Given the description of an element on the screen output the (x, y) to click on. 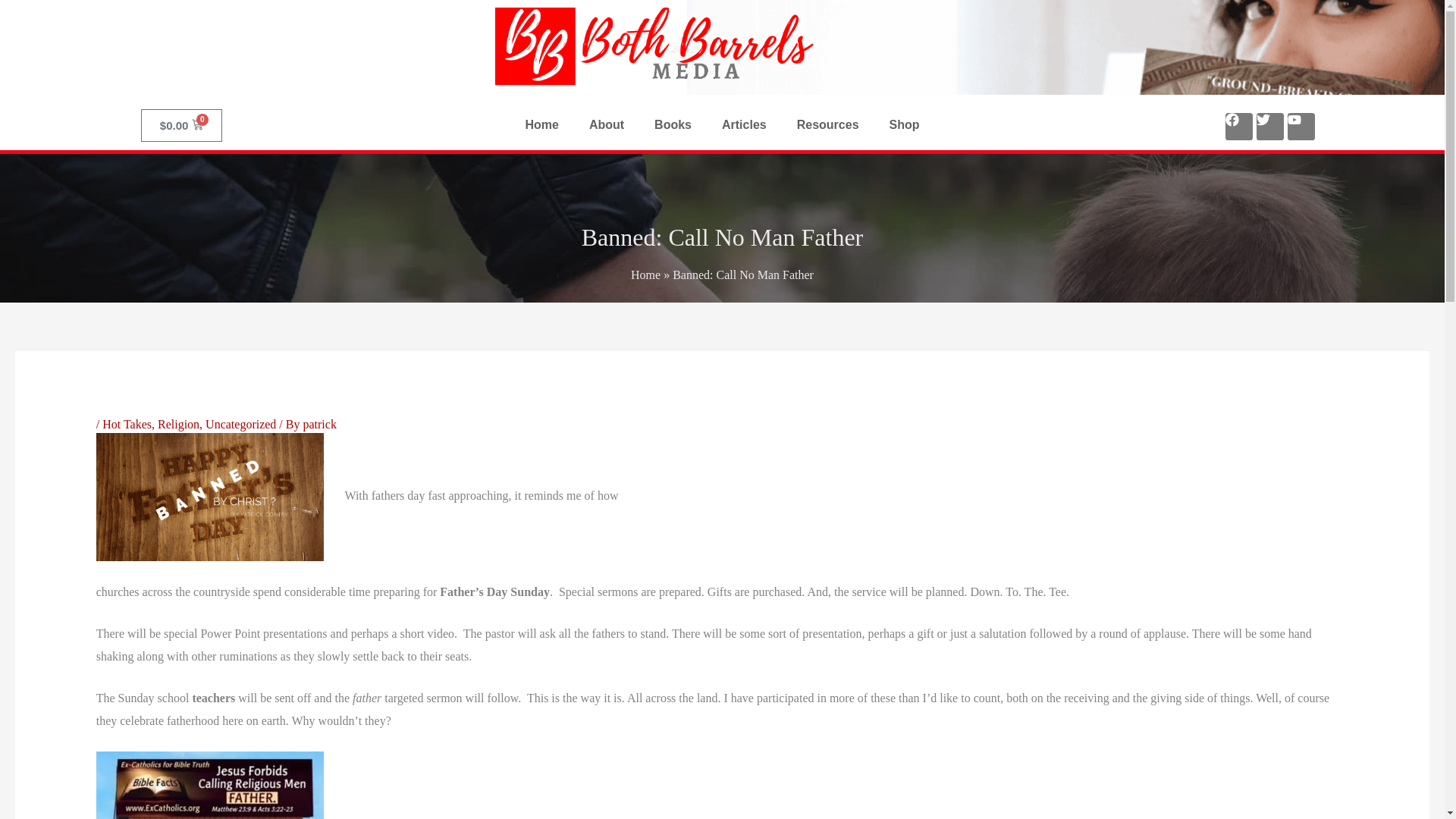
View all posts by patrick (319, 423)
Resources (828, 124)
Twitter (1270, 125)
Home (541, 124)
Facebook (1238, 125)
About (606, 124)
patrick (319, 423)
Home (645, 274)
Articles (743, 124)
Religion (178, 423)
